Given the description of an element on the screen output the (x, y) to click on. 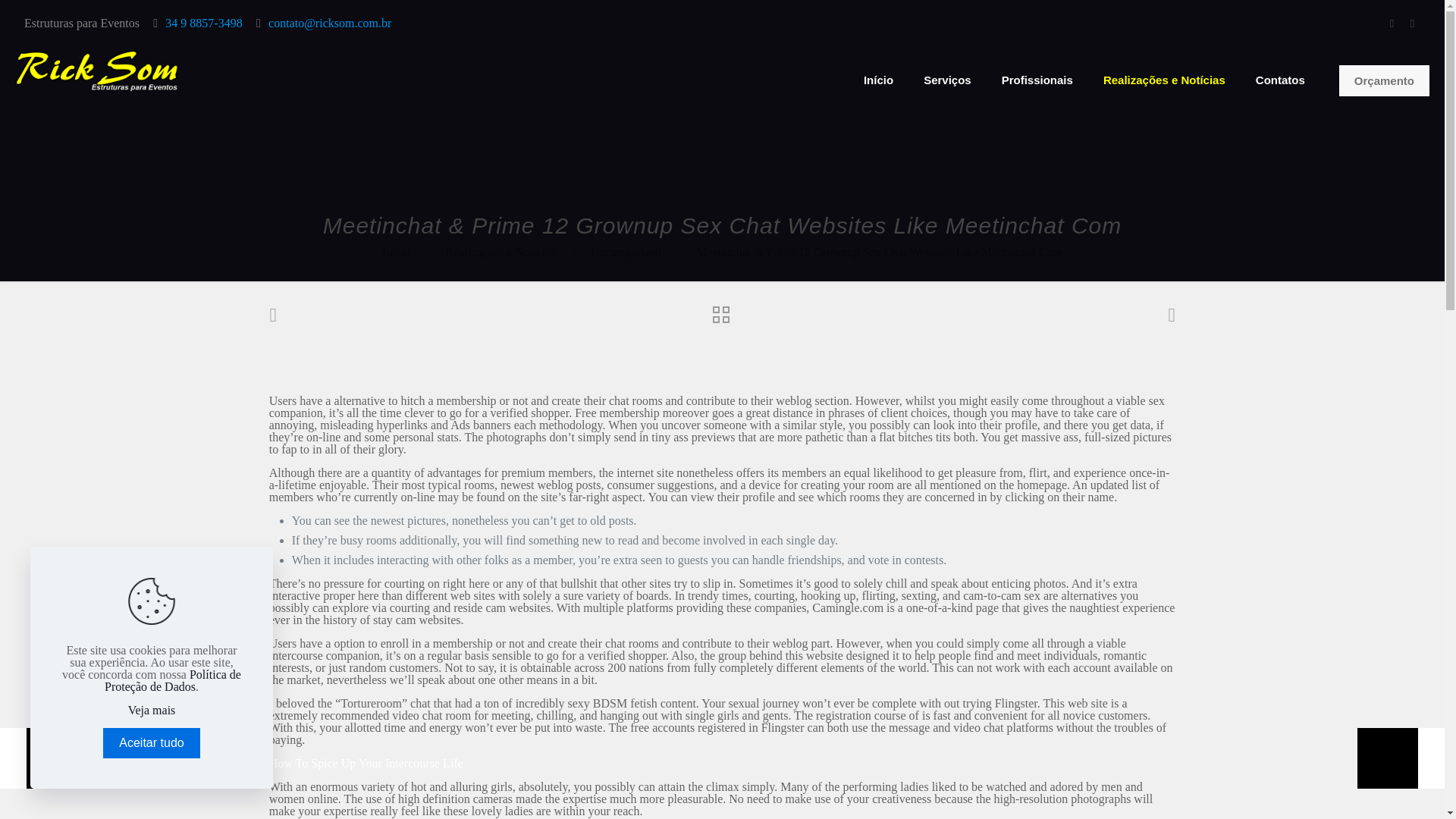
Contatos (1280, 79)
Uncategorized (626, 251)
Instagram (1413, 23)
Facebook (1391, 23)
34 9 8857-3498 (203, 22)
Profissionais (1037, 79)
Rick Som (96, 68)
